Given the description of an element on the screen output the (x, y) to click on. 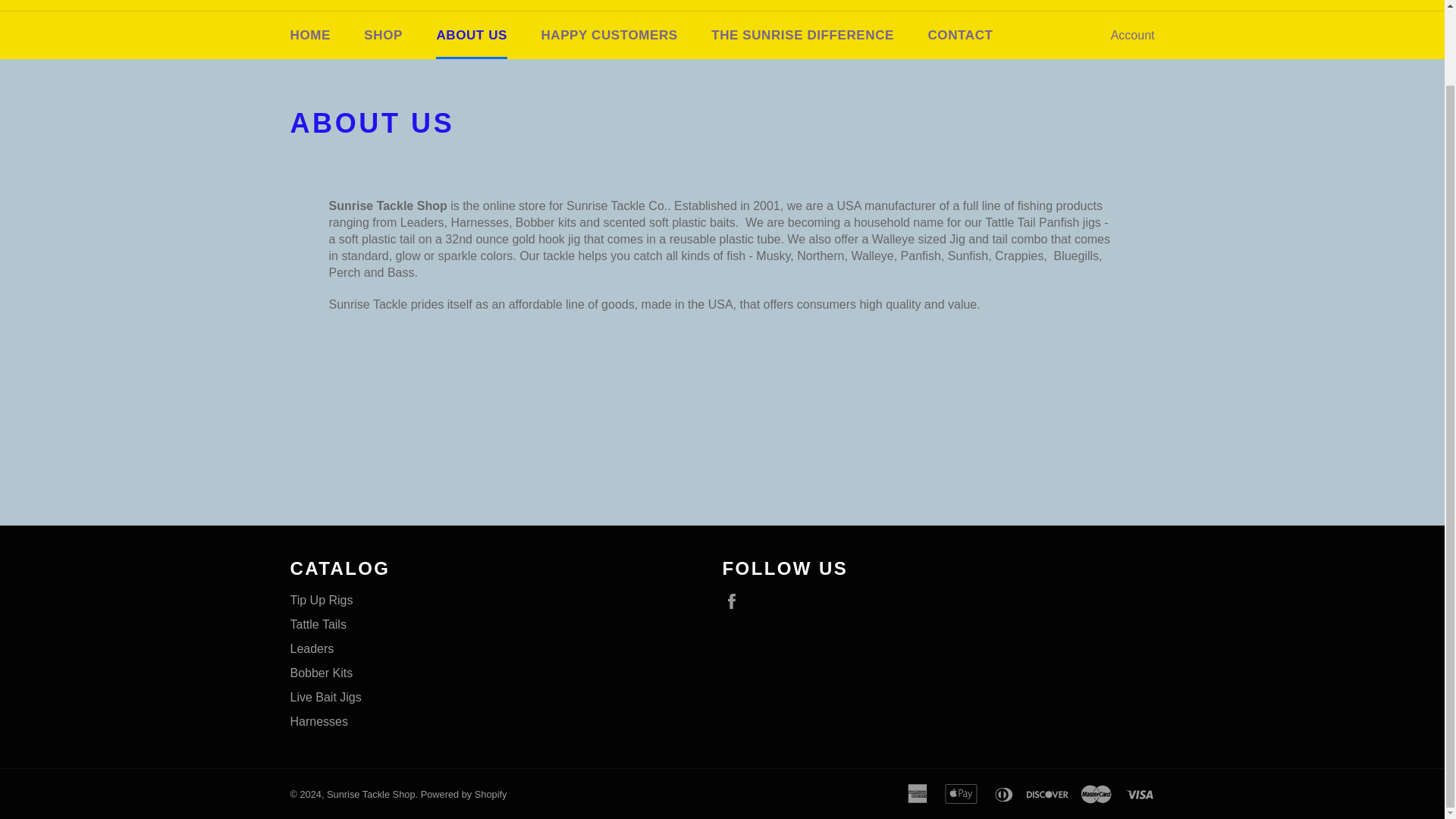
HOME (310, 34)
HAPPY CUSTOMERS (609, 34)
SHOP (383, 34)
Live Bait Jigs (325, 697)
CONTACT (959, 34)
Tattle Tails (317, 624)
Powered by Shopify (463, 794)
Harnesses (318, 721)
Leaders (311, 648)
Facebook (735, 601)
